Given the description of an element on the screen output the (x, y) to click on. 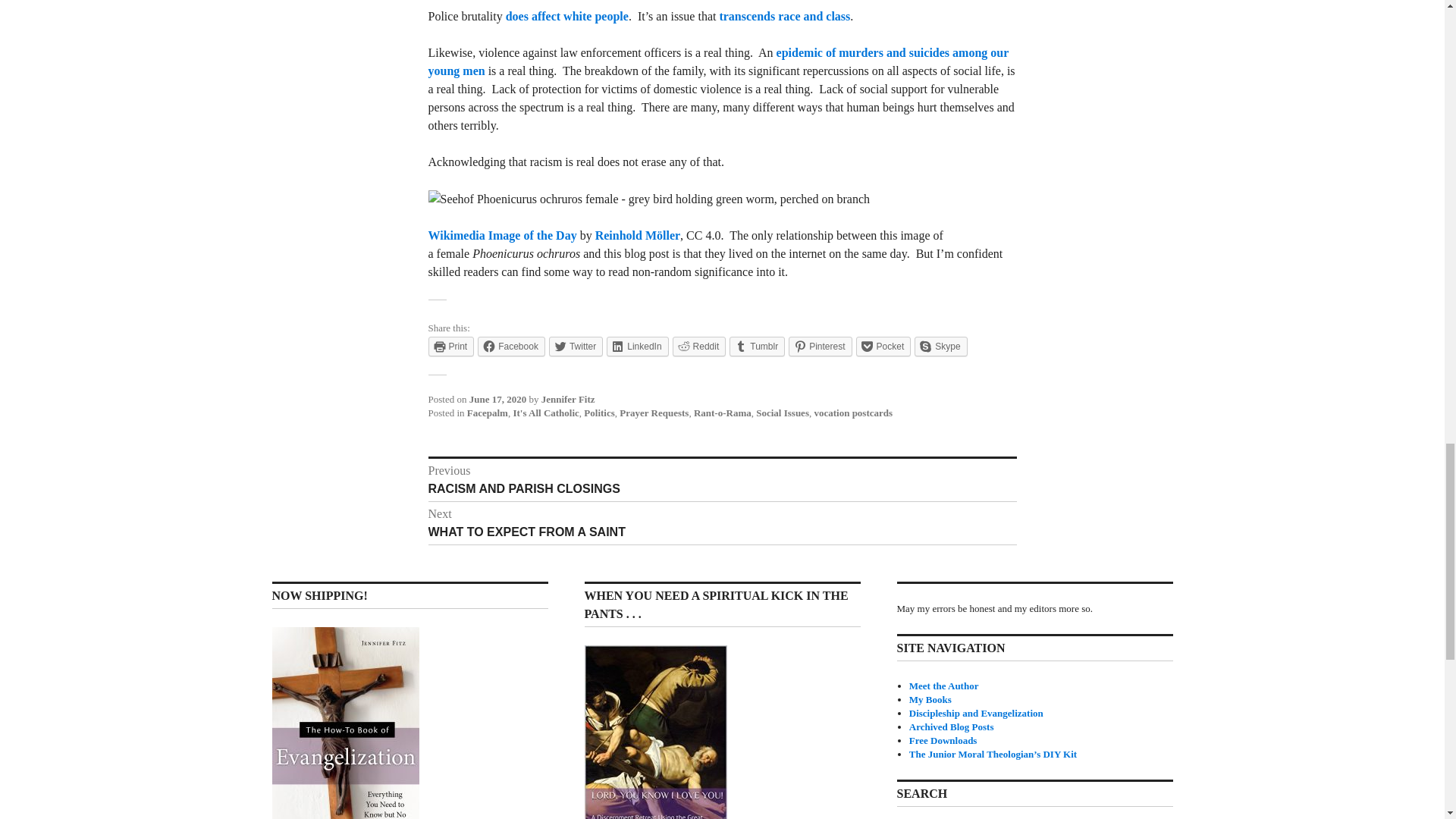
does affect white people (566, 15)
Twitter (575, 346)
Facebook (510, 346)
Click to print (451, 346)
Click to share on Skype (940, 346)
Prayer Requests (654, 412)
Skype (940, 346)
Click to share on Twitter (575, 346)
transcends race and class (784, 15)
epidemic of murders and suicides among our young men (718, 60)
